Given the description of an element on the screen output the (x, y) to click on. 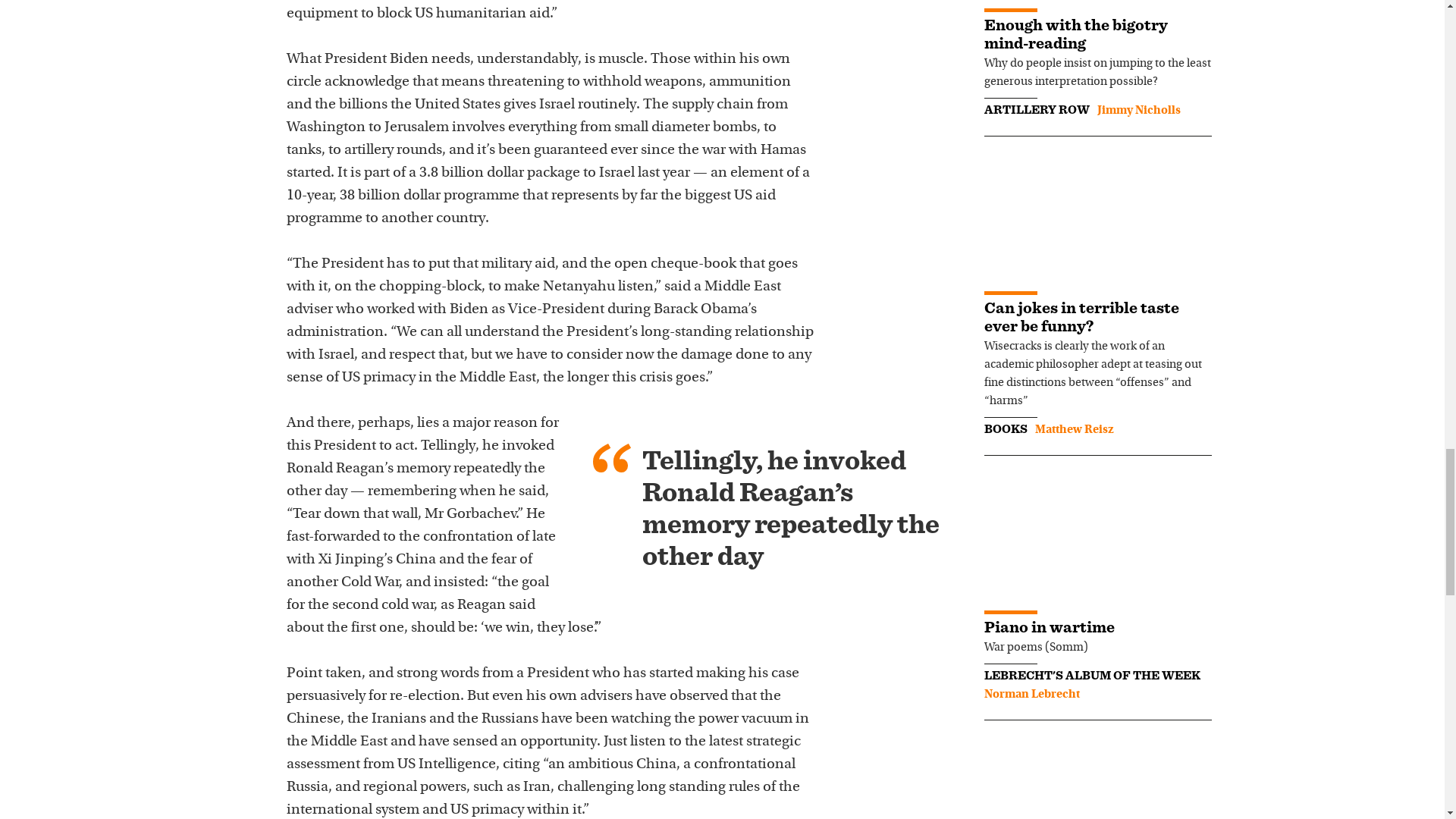
Posts by Jimmy Nicholls (1137, 110)
Posts by Norman Lebrecht (1032, 694)
Posts by Matthew Reisz (1073, 429)
